Given the description of an element on the screen output the (x, y) to click on. 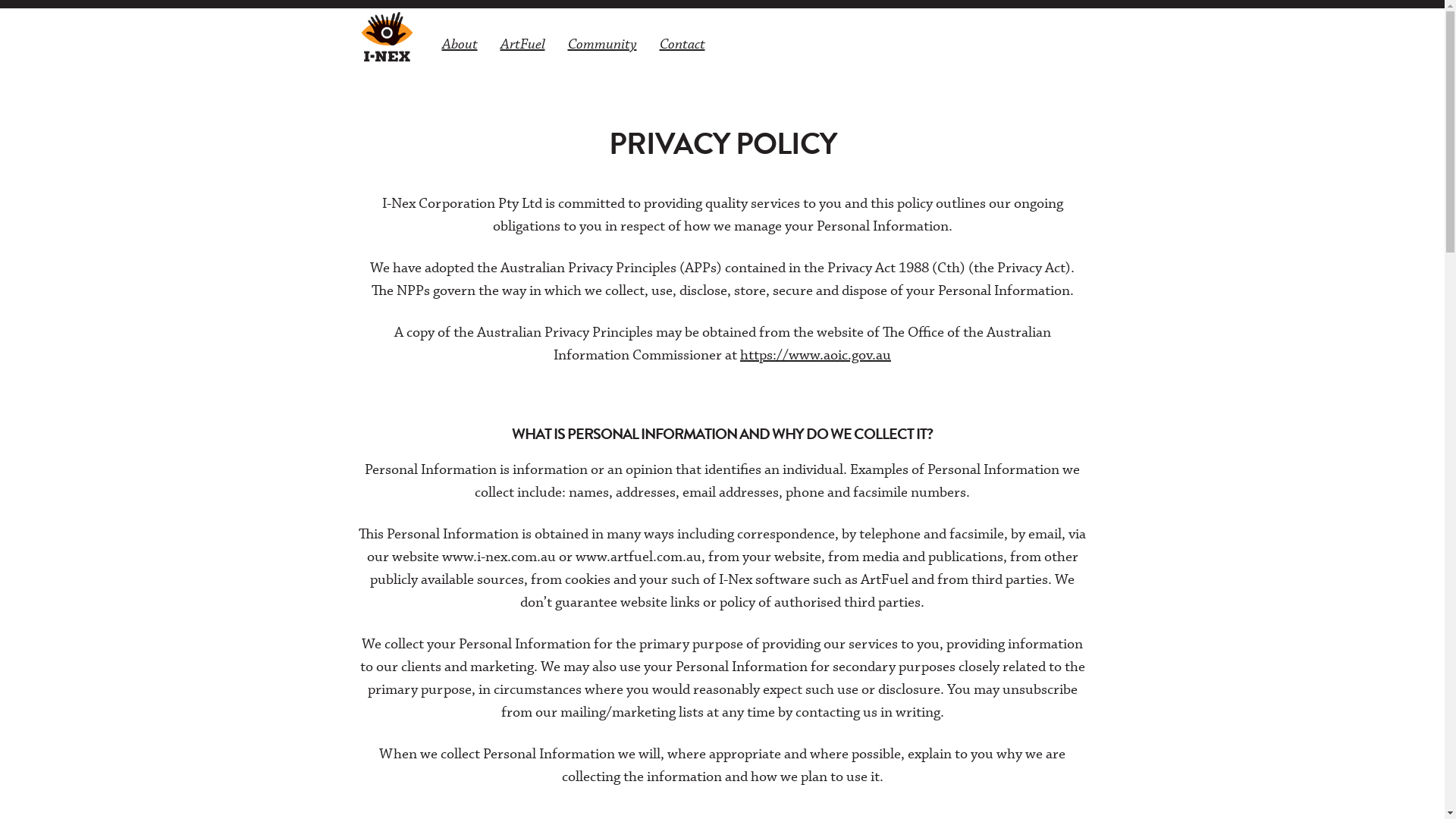
ArtFuel Element type: text (521, 43)
https://www.aoic.gov.au Element type: text (815, 354)
Contact Element type: text (681, 43)
Community Element type: text (602, 43)
About Element type: text (459, 43)
